Given the description of an element on the screen output the (x, y) to click on. 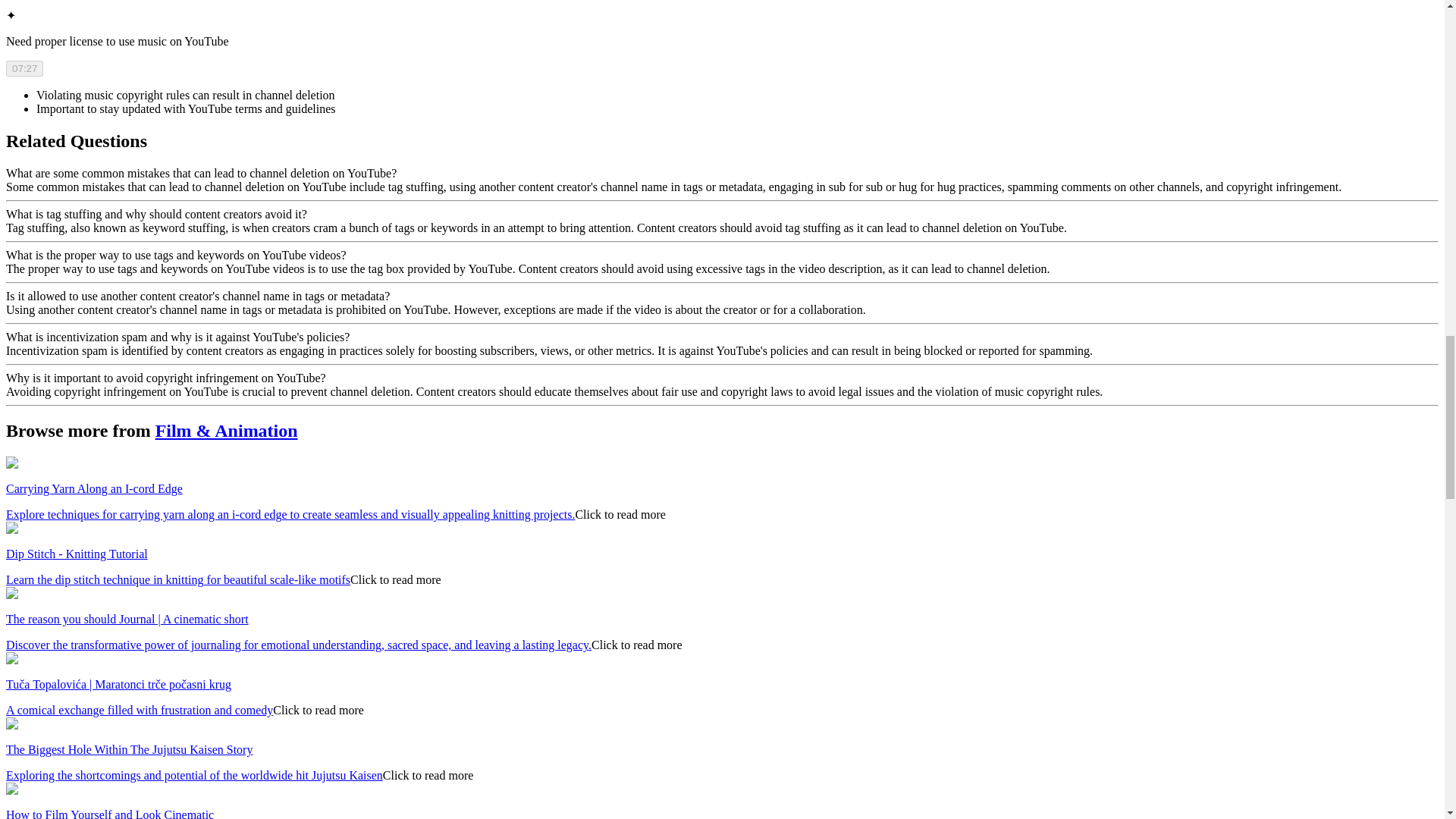
How to Film Yourself and Look Cinematic (109, 813)
Dip Stitch - Knitting Tutorial (76, 553)
The Biggest Hole Within The Jujutsu Kaisen Story (128, 748)
A comical exchange filled with frustration and comedy (139, 709)
Carrying Yarn Along an I-cord Edge (94, 488)
07:27 (24, 68)
